Given the description of an element on the screen output the (x, y) to click on. 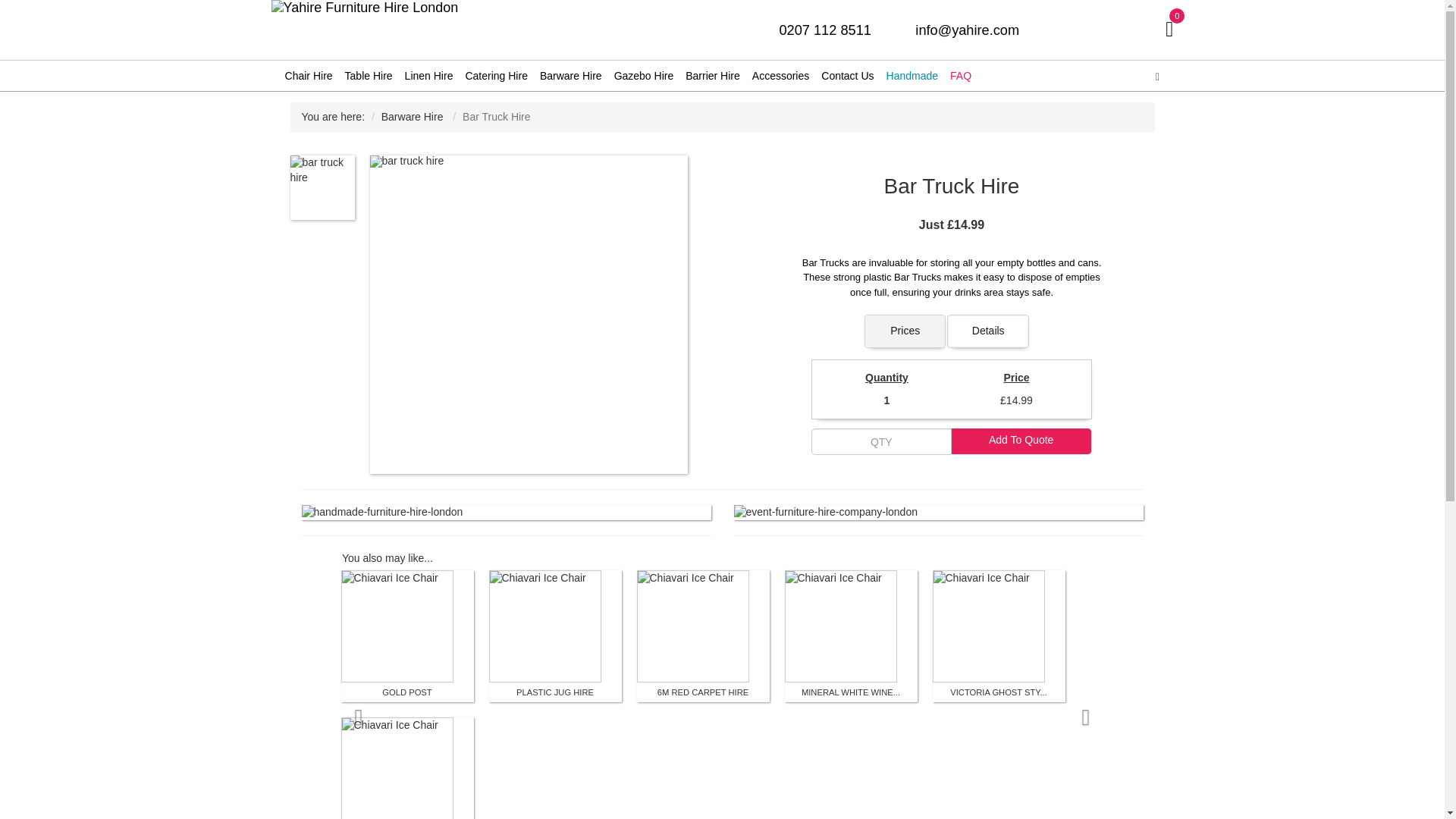
Table Hire (368, 75)
Chair Hire (309, 75)
0207 112 8511 (824, 29)
Linen Hire (429, 75)
Catering Hire (495, 75)
